Given the description of an element on the screen output the (x, y) to click on. 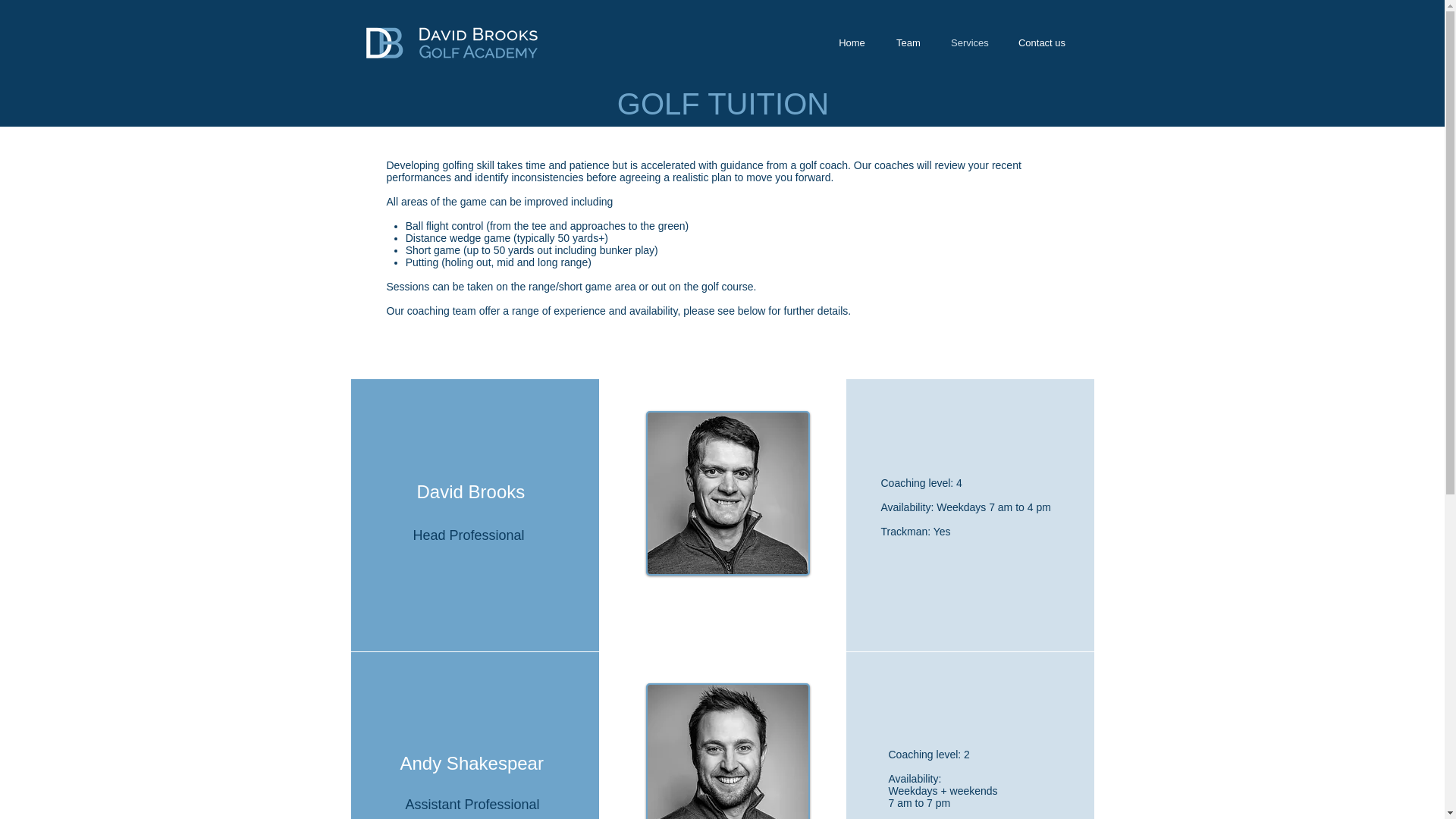
Team (908, 43)
Contact us (1042, 43)
Home (851, 43)
guy2.jpg (727, 493)
Services (969, 43)
guy2.jpg (727, 751)
